Given the description of an element on the screen output the (x, y) to click on. 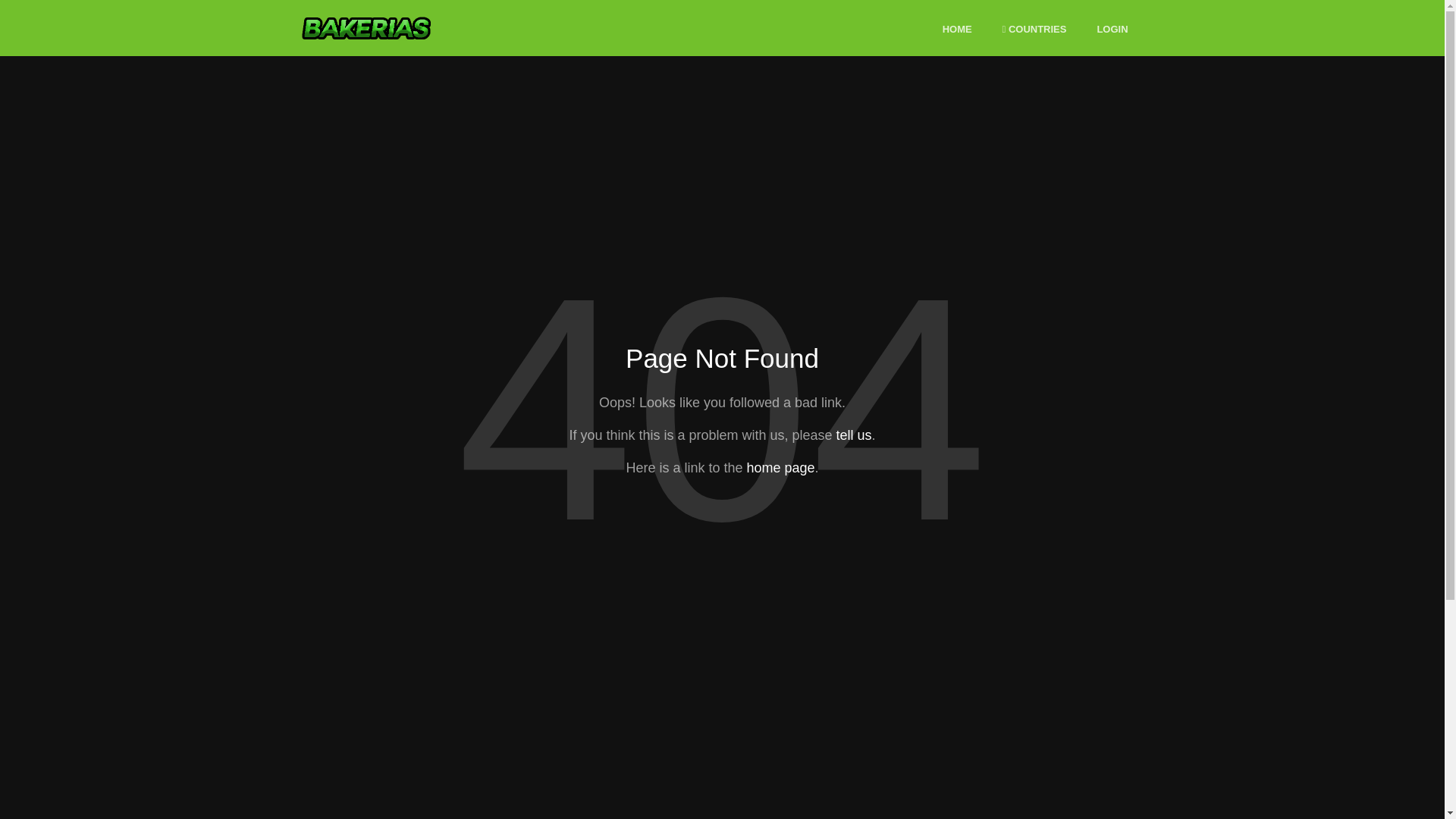
tell us (852, 435)
home page (779, 467)
HOME (957, 29)
